Given the description of an element on the screen output the (x, y) to click on. 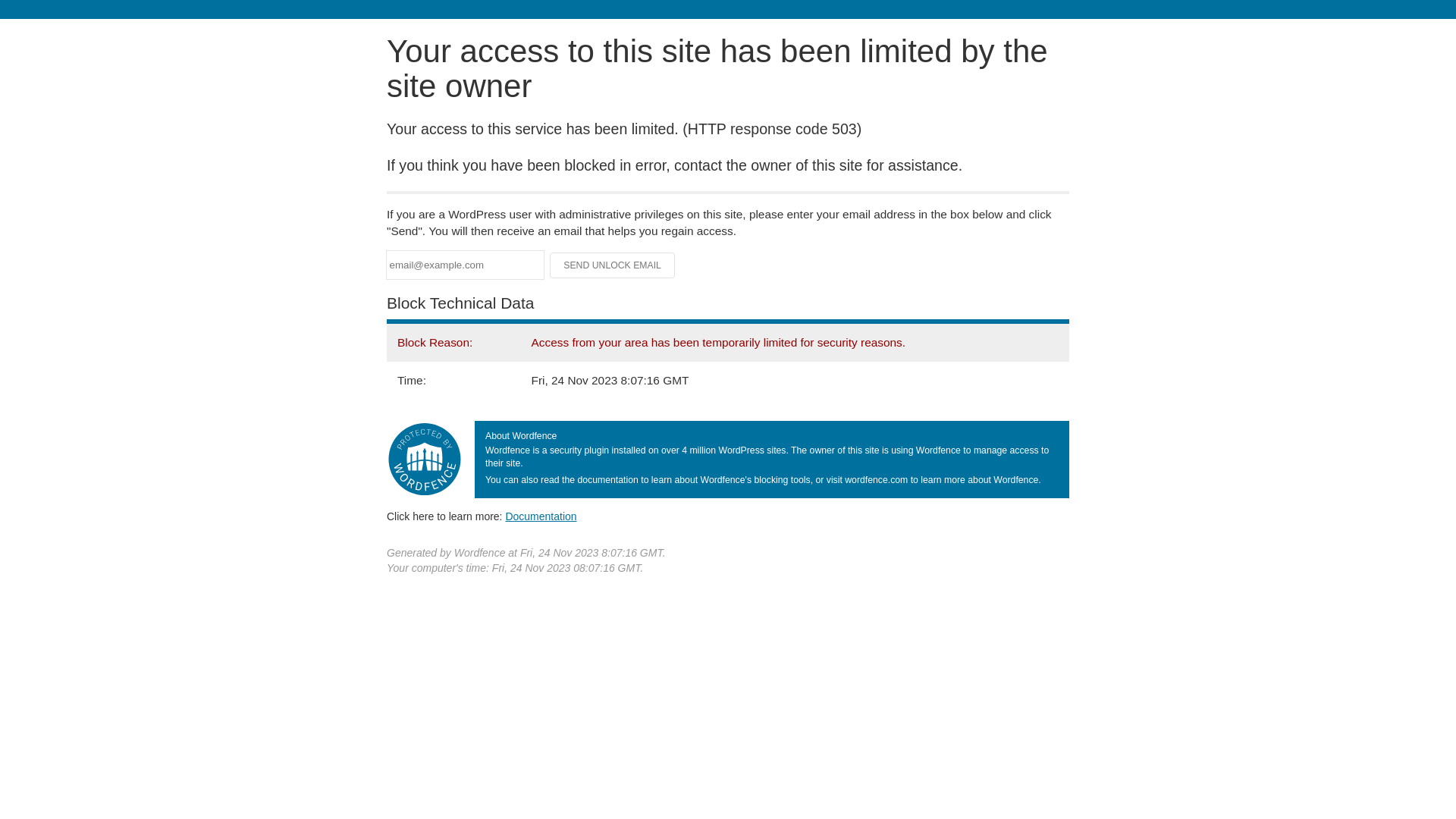
Documentation Element type: text (540, 516)
Send Unlock Email Element type: text (612, 265)
